Given the description of an element on the screen output the (x, y) to click on. 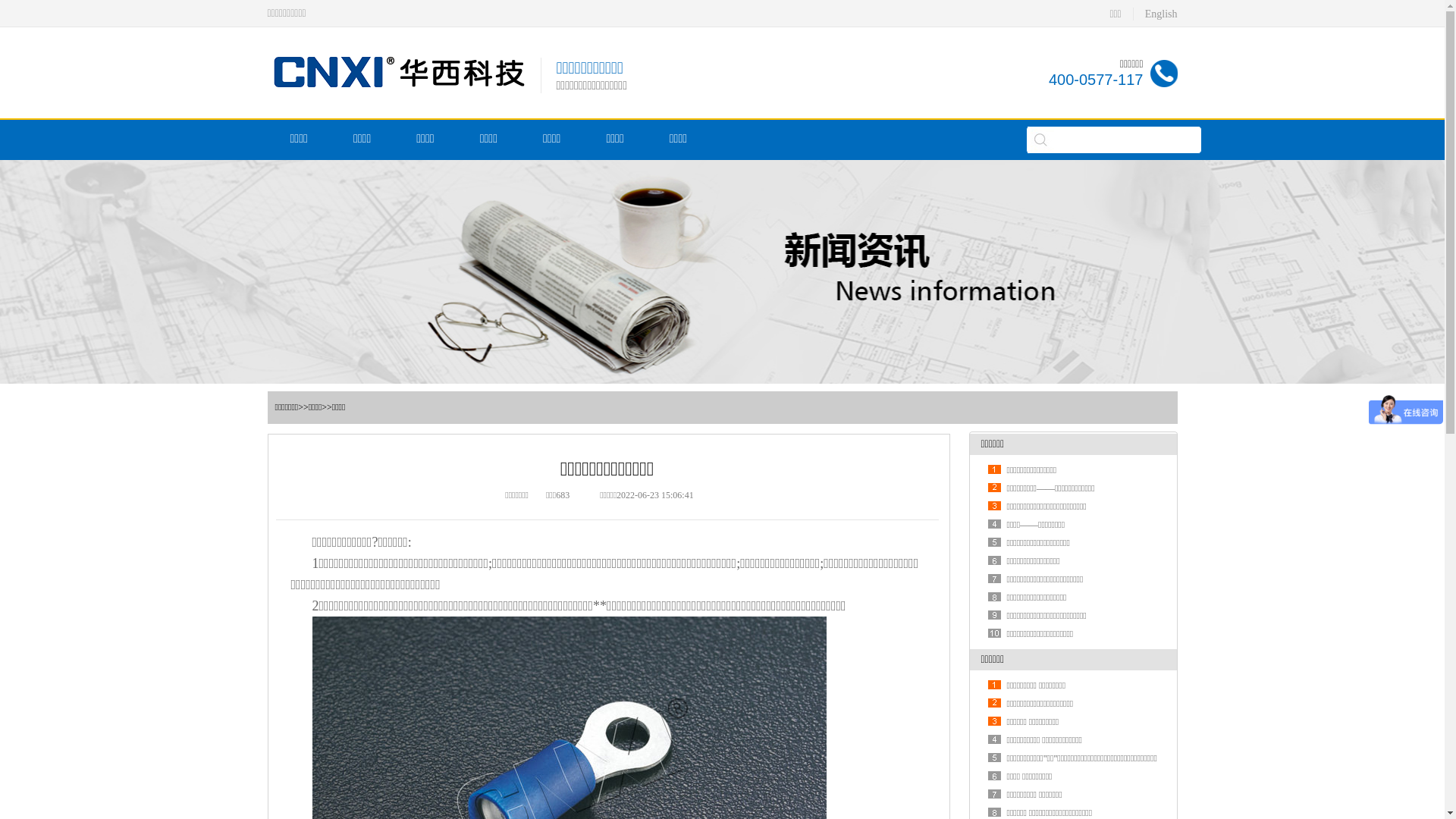
English Element type: text (1161, 13)
